Given the description of an element on the screen output the (x, y) to click on. 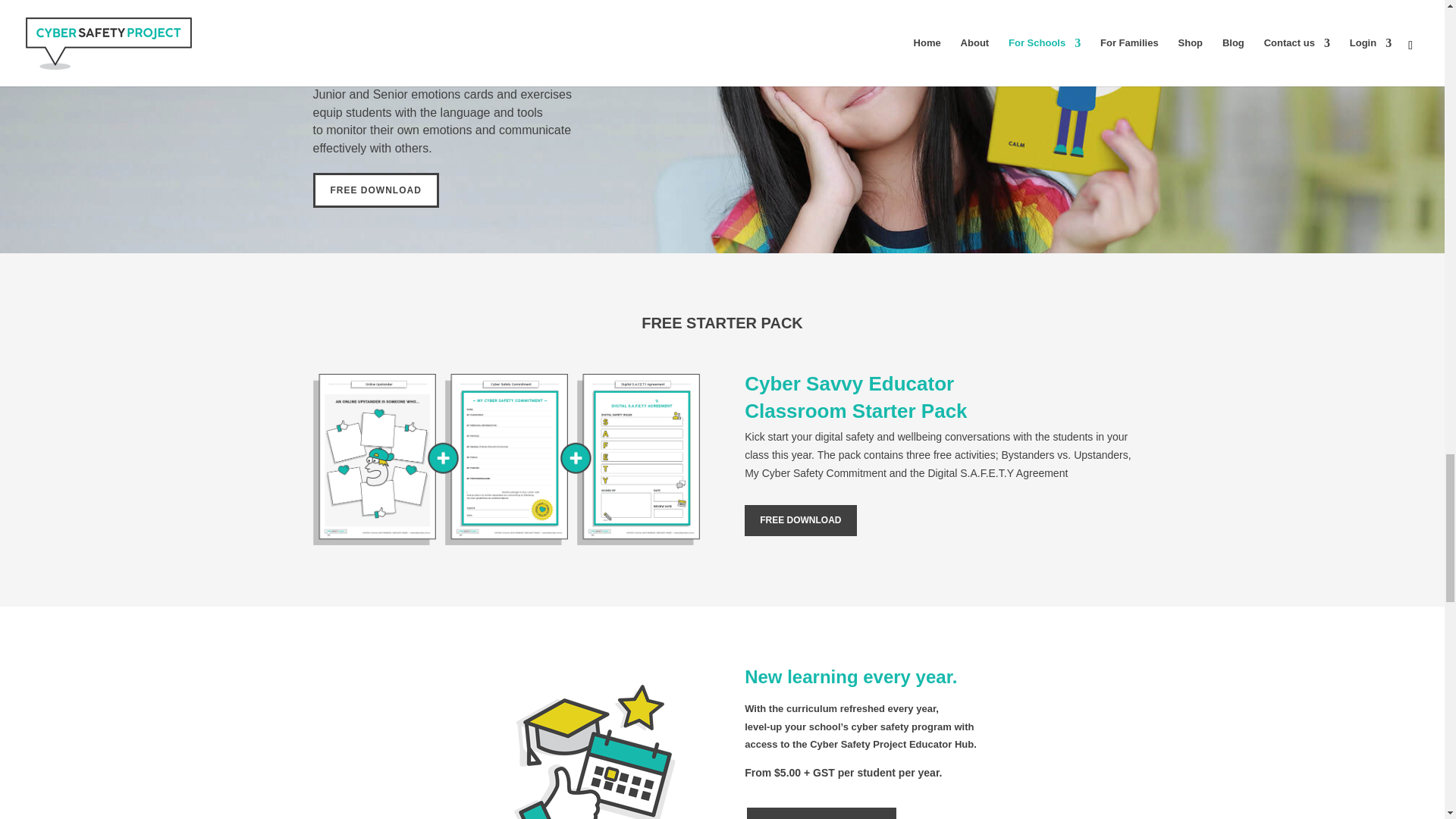
subscription-icon-06 (592, 743)
